Given the description of an element on the screen output the (x, y) to click on. 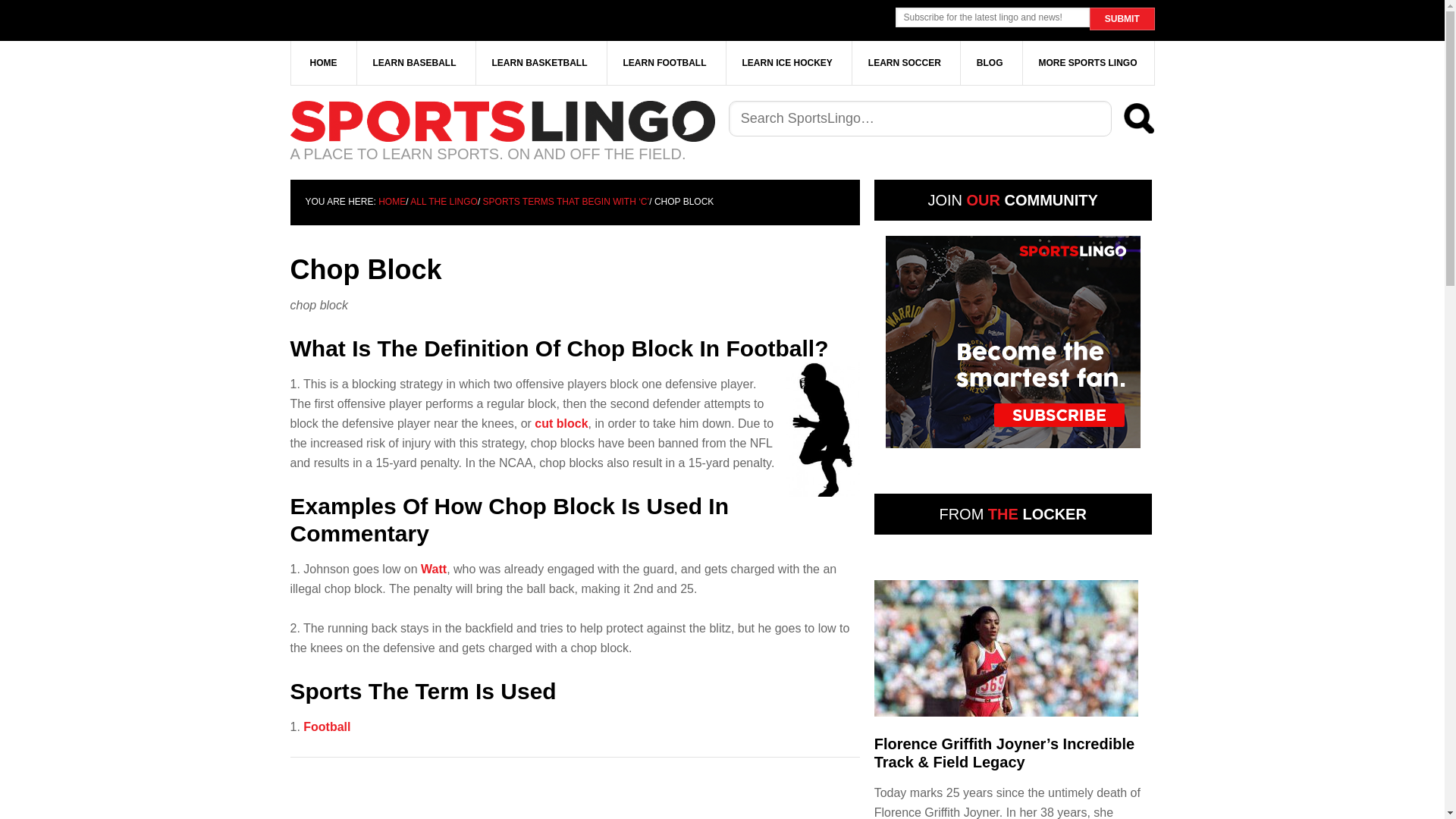
BLOG (990, 62)
MORE SPORTS LINGO (1088, 62)
LEARN FOOTBALL (664, 62)
Search (1139, 118)
LEARN BASKETBALL (540, 62)
Submit (1121, 18)
LEARN BASEBALL (414, 62)
LEARN SOCCER (904, 62)
LEARN ICE HOCKEY (787, 62)
Submit (1121, 18)
